Given the description of an element on the screen output the (x, y) to click on. 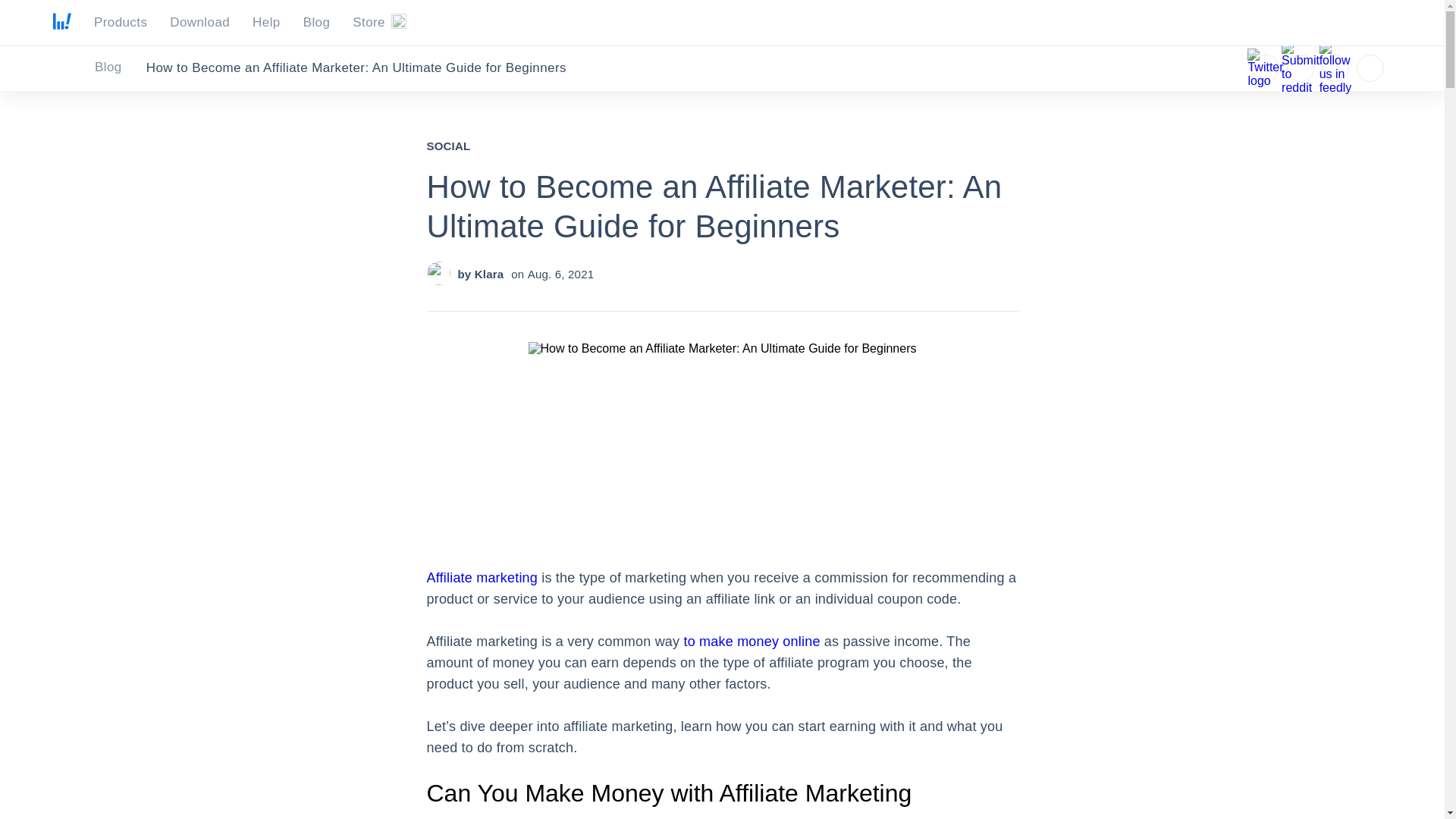
Klara (488, 273)
Blog (316, 22)
Blog (116, 67)
Home page (61, 24)
Store (379, 22)
Show all Klara's entries (488, 273)
Help (266, 22)
Blog (120, 67)
Download (200, 22)
Show all entries in Social (448, 146)
Affiliate marketing (481, 577)
Products (120, 22)
Blog (116, 67)
to make money online (752, 641)
